Given the description of an element on the screen output the (x, y) to click on. 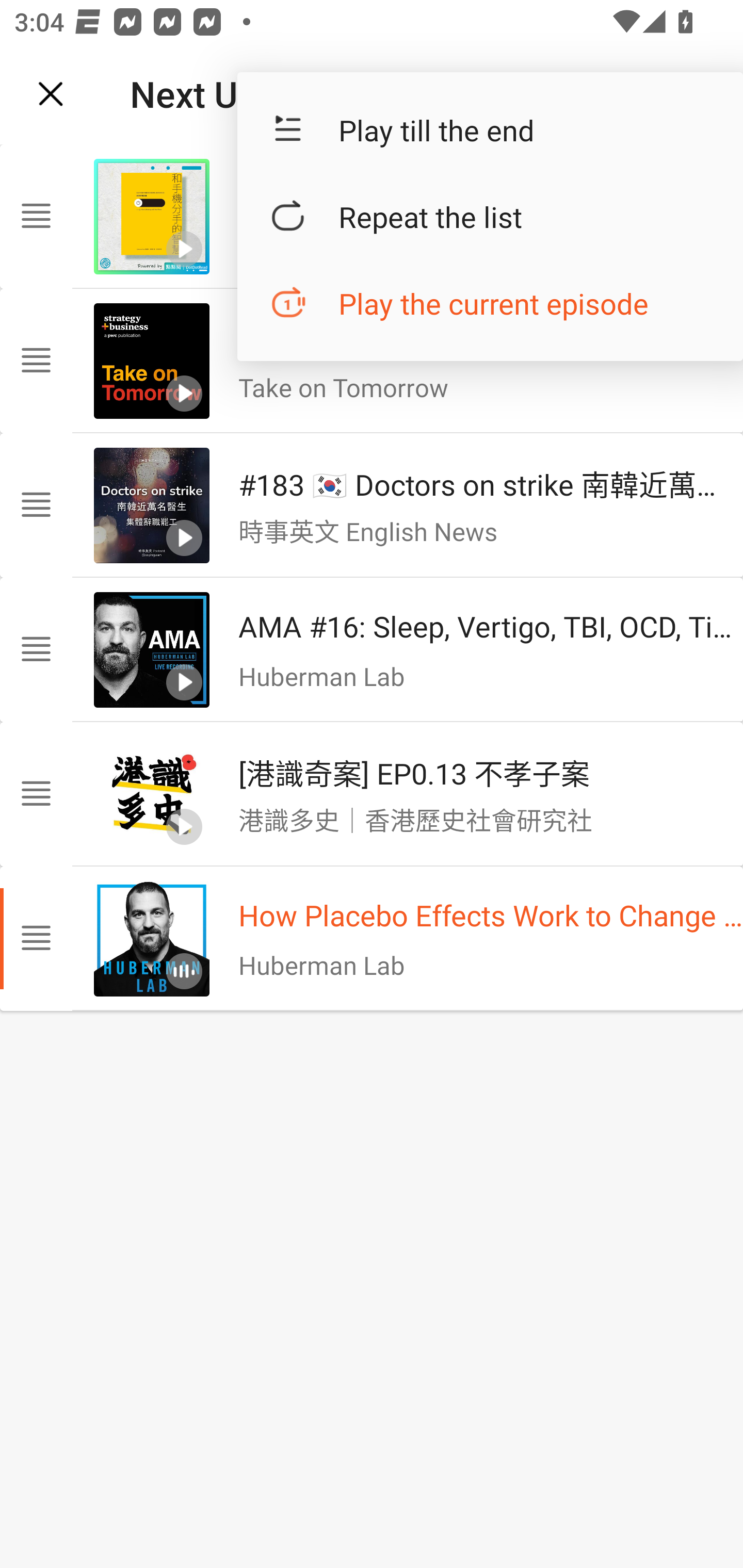
Play till the end (490, 130)
Repeat the list (490, 217)
Play the current episode (490, 303)
